Given the description of an element on the screen output the (x, y) to click on. 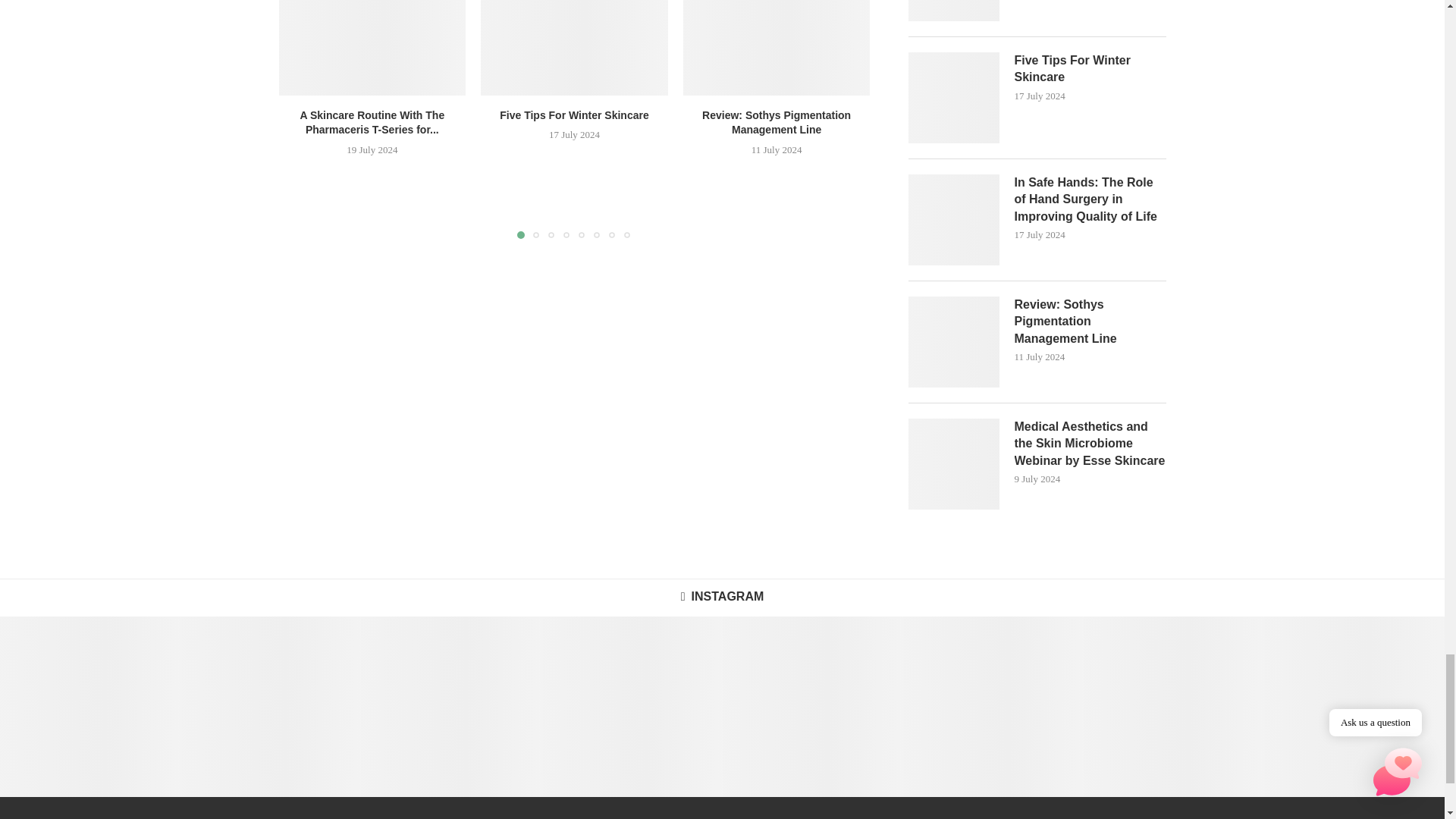
Five Tips For Winter Skincare (574, 47)
Review: Sothys Pigmentation Management Line (776, 47)
